Given the description of an element on the screen output the (x, y) to click on. 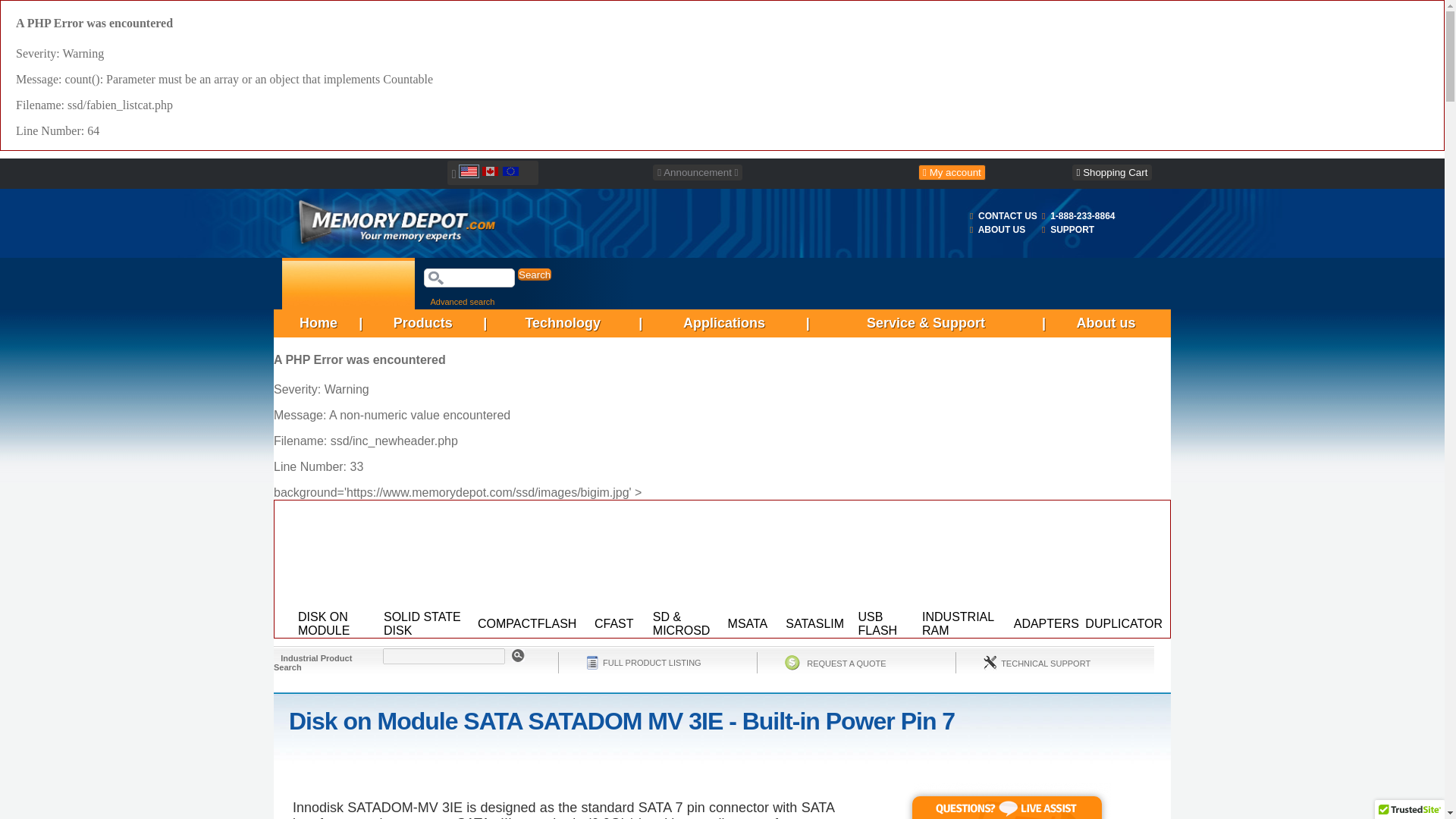
1-888-233-8864 (1082, 215)
Announcement (697, 172)
Shopping Cart (1112, 172)
SUPPORT (1071, 229)
Search (534, 274)
CONTACT US (1007, 215)
Advanced search (461, 300)
My account (952, 172)
ABOUT US (1002, 229)
My account (951, 172)
